Given the description of an element on the screen output the (x, y) to click on. 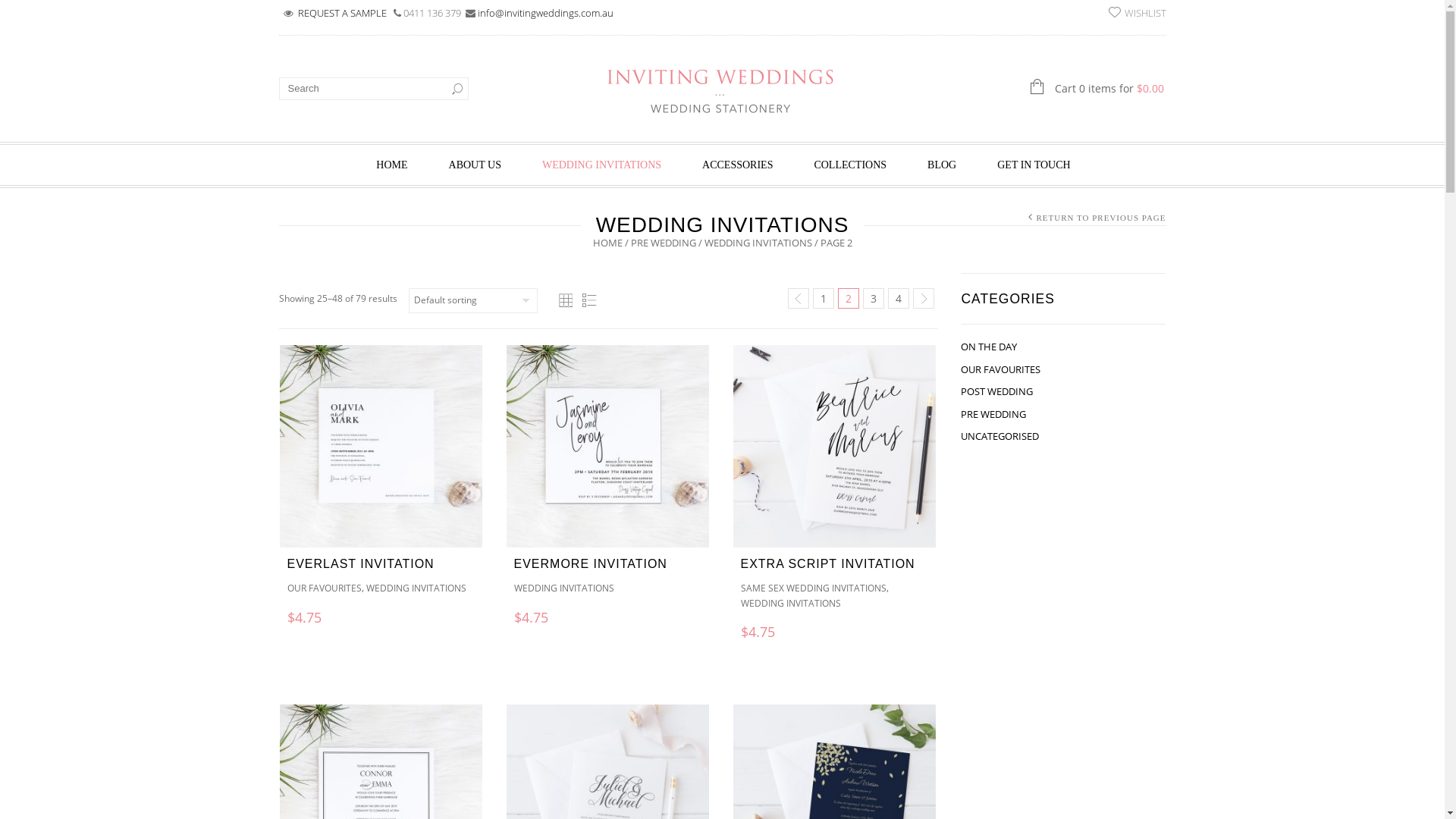
EVERMORE INVITATION Element type: text (590, 563)
3 Element type: text (873, 298)
POST WEDDING Element type: text (996, 391)
OUR FAVOURITES Element type: text (1000, 369)
1 Element type: text (823, 298)
PRE WEDDING Element type: text (663, 241)
REQUEST A SAMPLE Element type: text (342, 12)
WEDDING INVITATIONS Element type: text (415, 587)
EXTRA SCRIPT INVITATION Element type: text (827, 563)
EVERLAST INVITATION Element type: text (359, 563)
WEDDING INVITATIONS Element type: text (564, 587)
PRE WEDDING Element type: text (993, 413)
WISHLIST Element type: text (1137, 11)
UNCATEGORISED Element type: text (999, 435)
ACCESSORIES Element type: text (737, 164)
WEDDING INVITATIONS Element type: text (601, 164)
Go Element type: text (457, 88)
ABOUT US Element type: text (475, 164)
WEDDING INVITATIONS Element type: text (790, 602)
info@invitingweddings.com.au Element type: text (545, 12)
COLLECTIONS Element type: text (849, 164)
GET IN TOUCH Element type: text (1033, 164)
4 Element type: text (898, 298)
BLOG Element type: text (941, 164)
Cart 0 items for $0.00 Element type: text (1041, 87)
RETURN TO PREVIOUS PAGE Element type: text (1100, 216)
SAME SEX WEDDING INVITATIONS Element type: text (812, 587)
ON THE DAY Element type: text (988, 346)
HOME Element type: text (607, 241)
HOME Element type: text (391, 164)
OUR FAVOURITES Element type: text (323, 587)
WEDDING INVITATIONS Element type: text (757, 241)
